Given the description of an element on the screen output the (x, y) to click on. 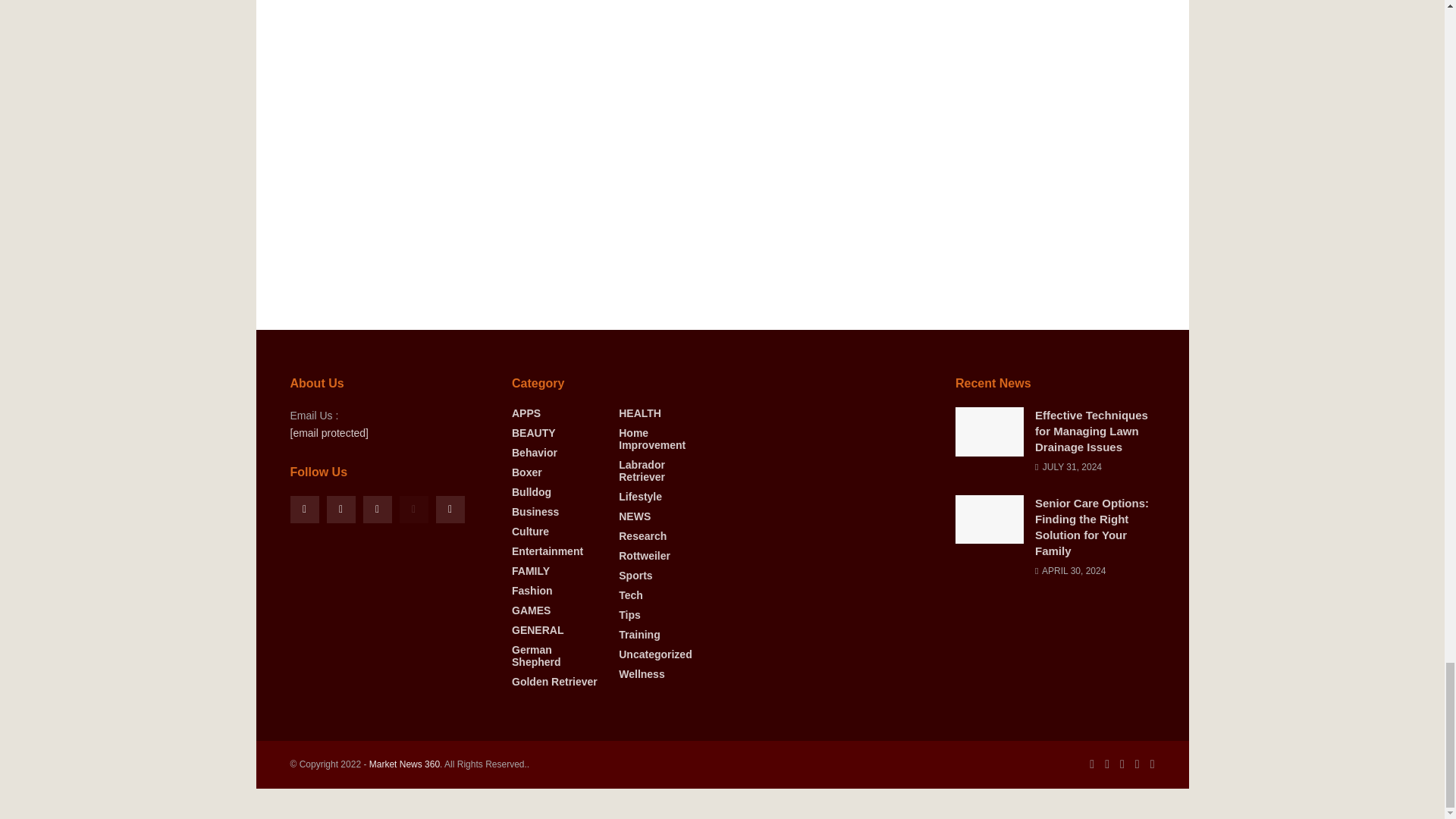
marketnews360 (404, 764)
